Given the description of an element on the screen output the (x, y) to click on. 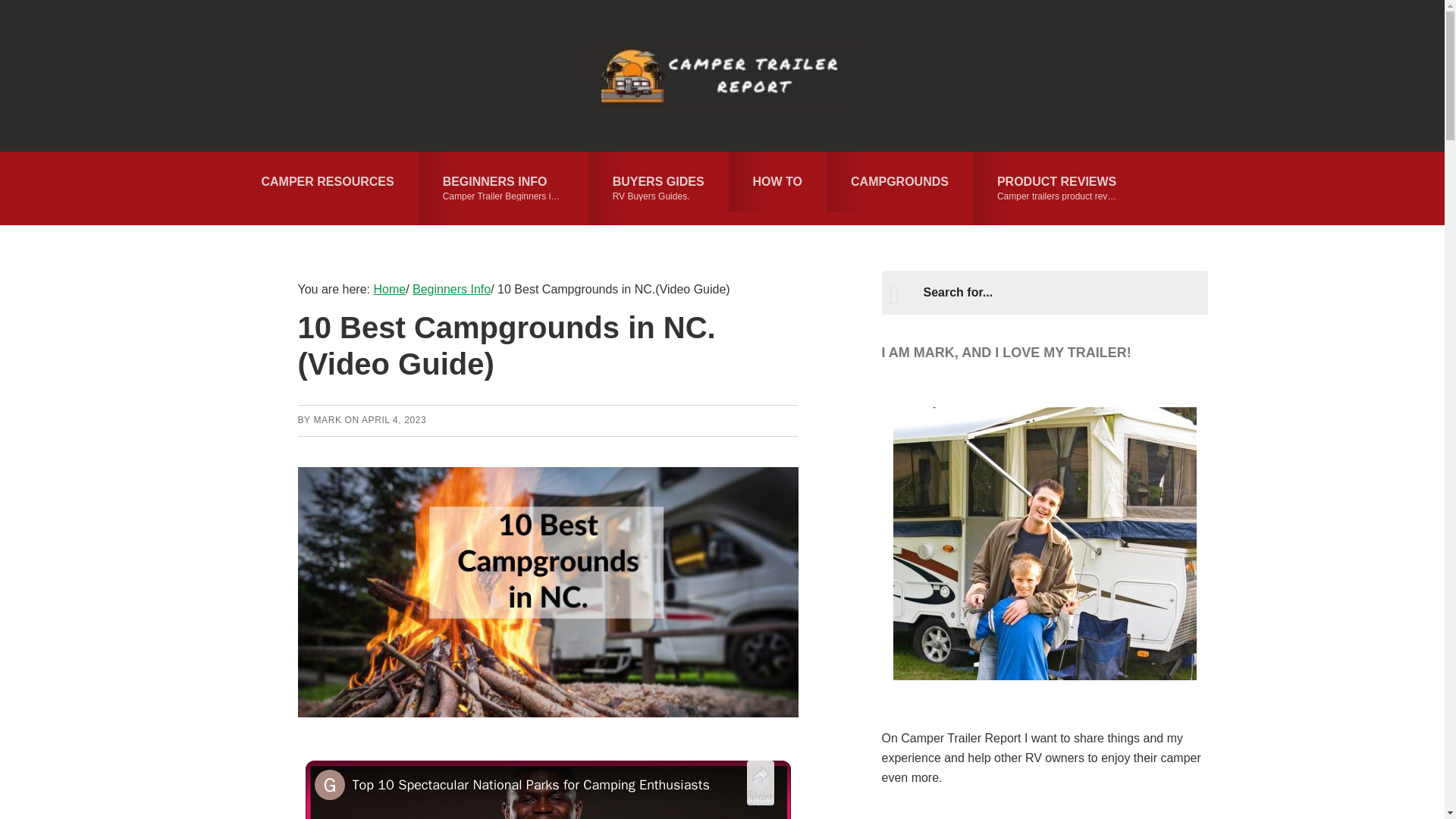
HOW TO (1057, 188)
CAMPER RESOURCES (778, 181)
Search (326, 181)
MARK (503, 188)
Top 10 Spectacular National Parks for Camping Enthusiasts (658, 188)
Search (326, 419)
Camper Trailer Report (545, 784)
Home (722, 75)
